Given the description of an element on the screen output the (x, y) to click on. 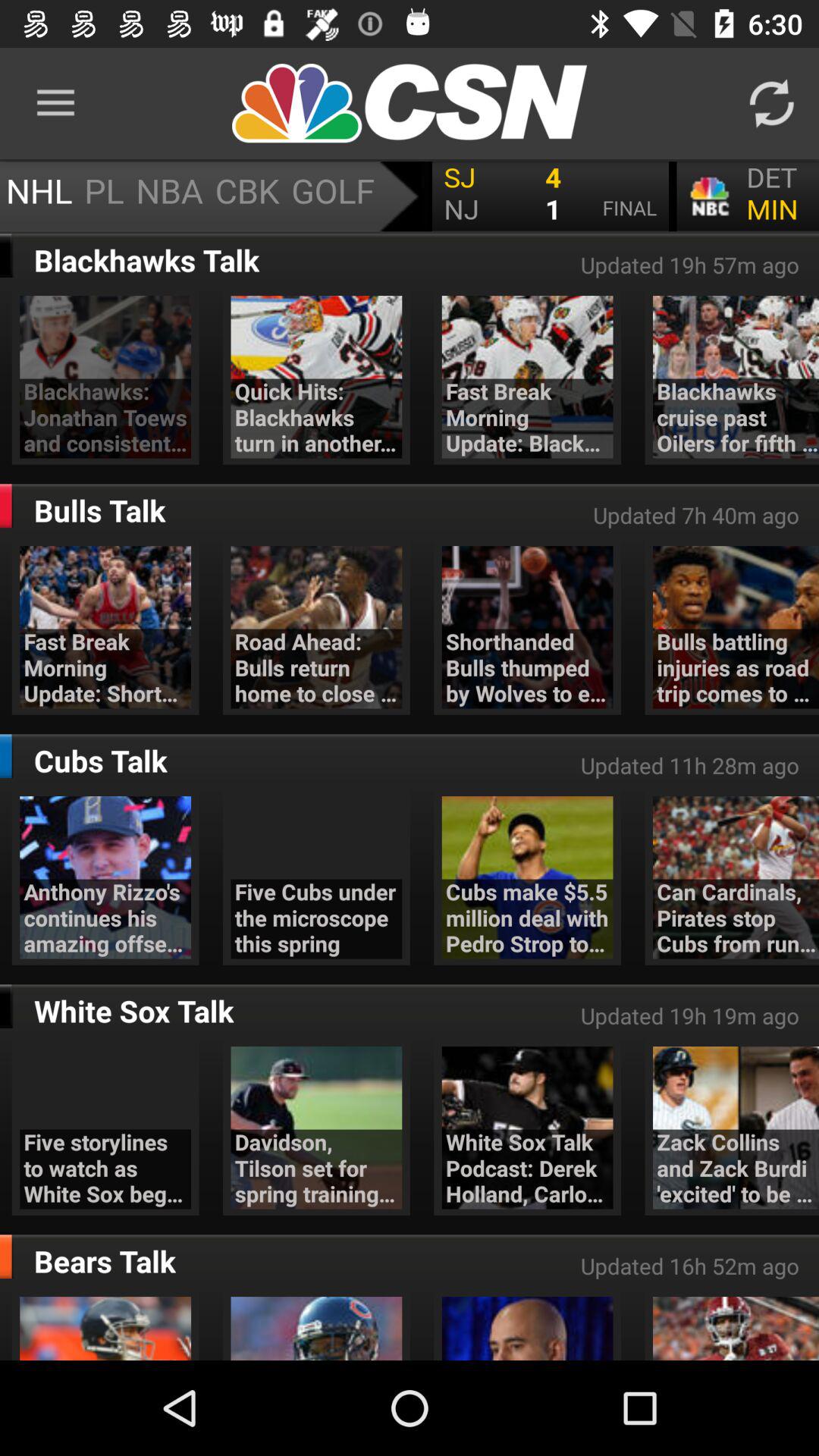
open menu (409, 196)
